Given the description of an element on the screen output the (x, y) to click on. 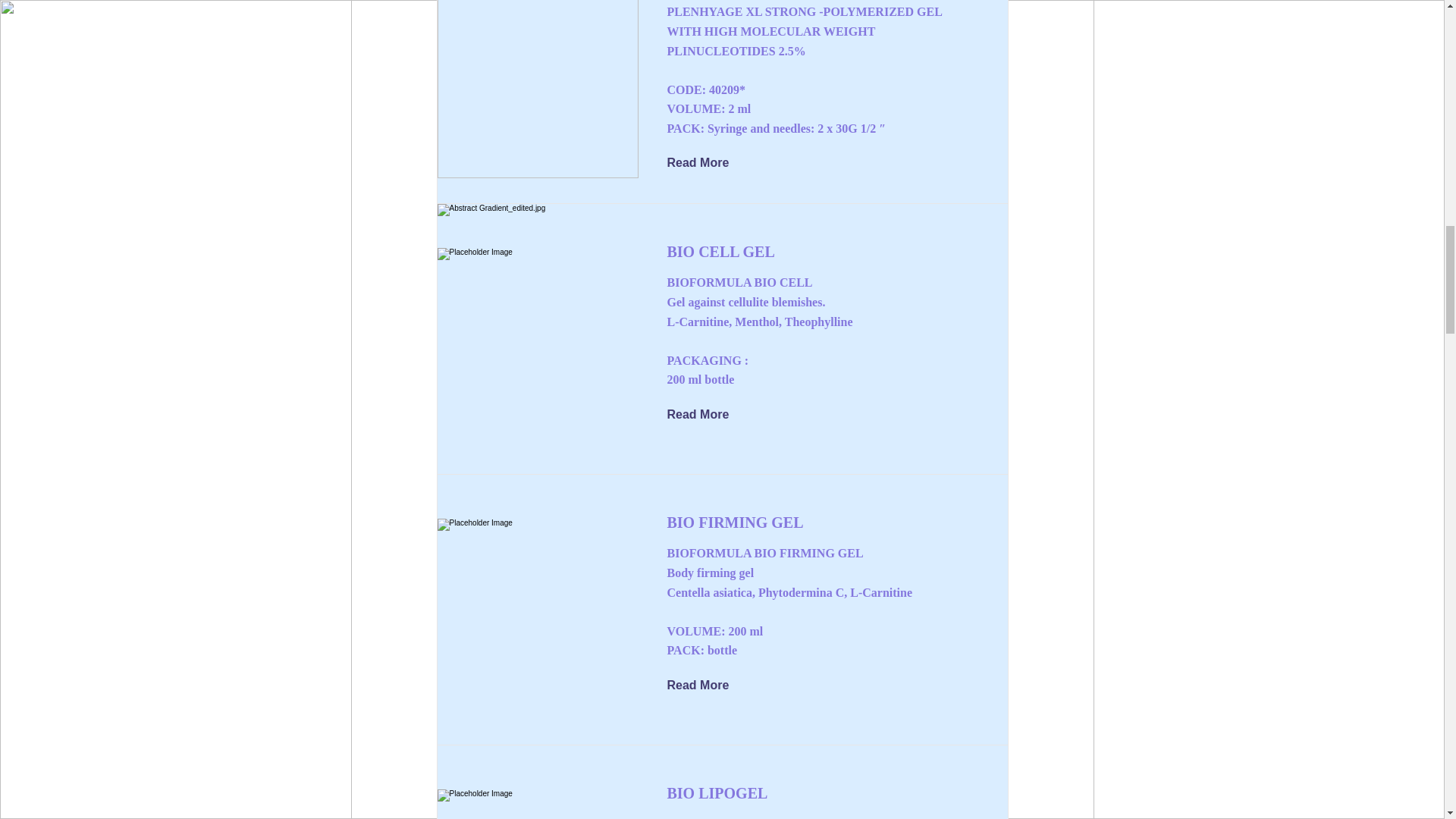
Read More (707, 163)
Read More (707, 685)
Read More (707, 414)
